Given the description of an element on the screen output the (x, y) to click on. 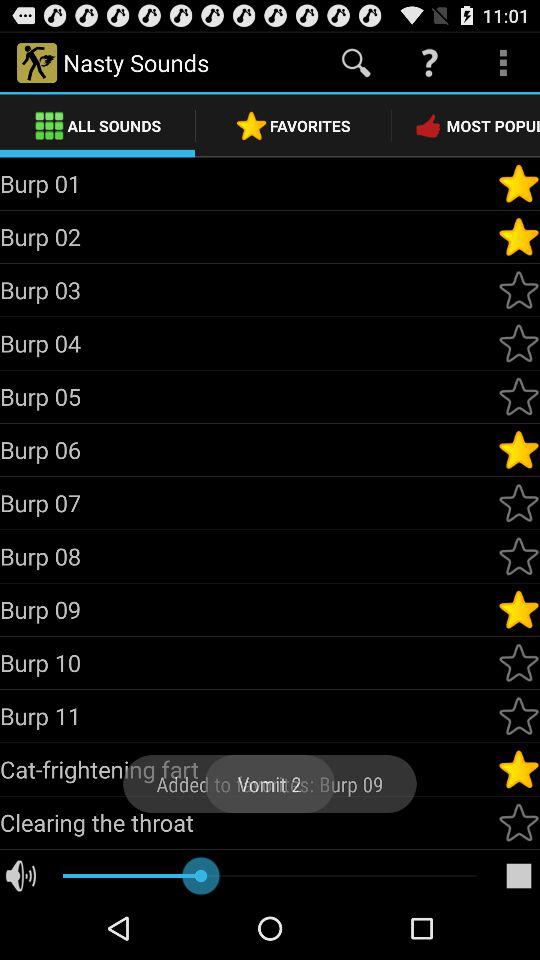
favorite burp 10 (519, 663)
